Given the description of an element on the screen output the (x, y) to click on. 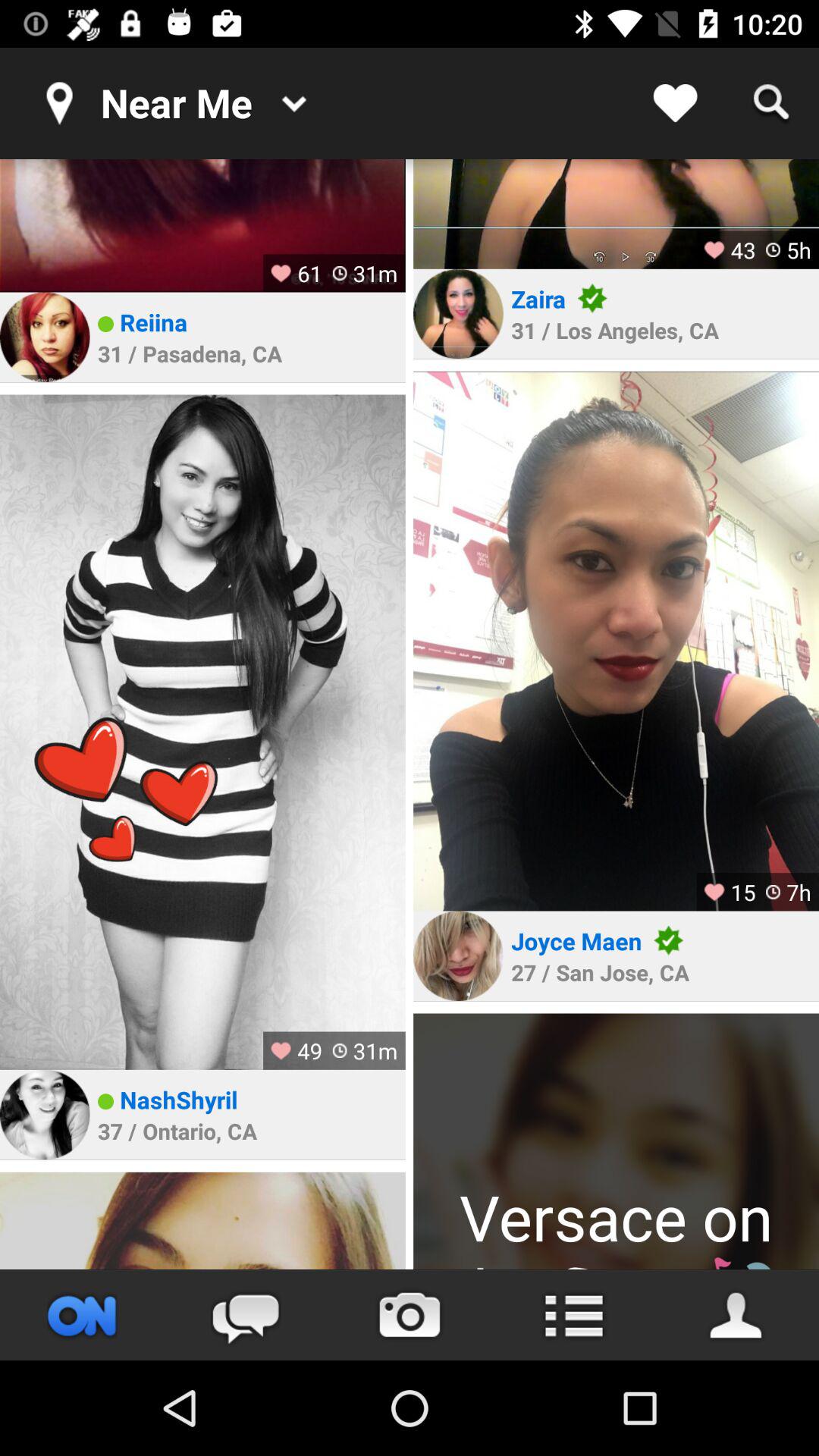
enlarges image (616, 641)
